Given the description of an element on the screen output the (x, y) to click on. 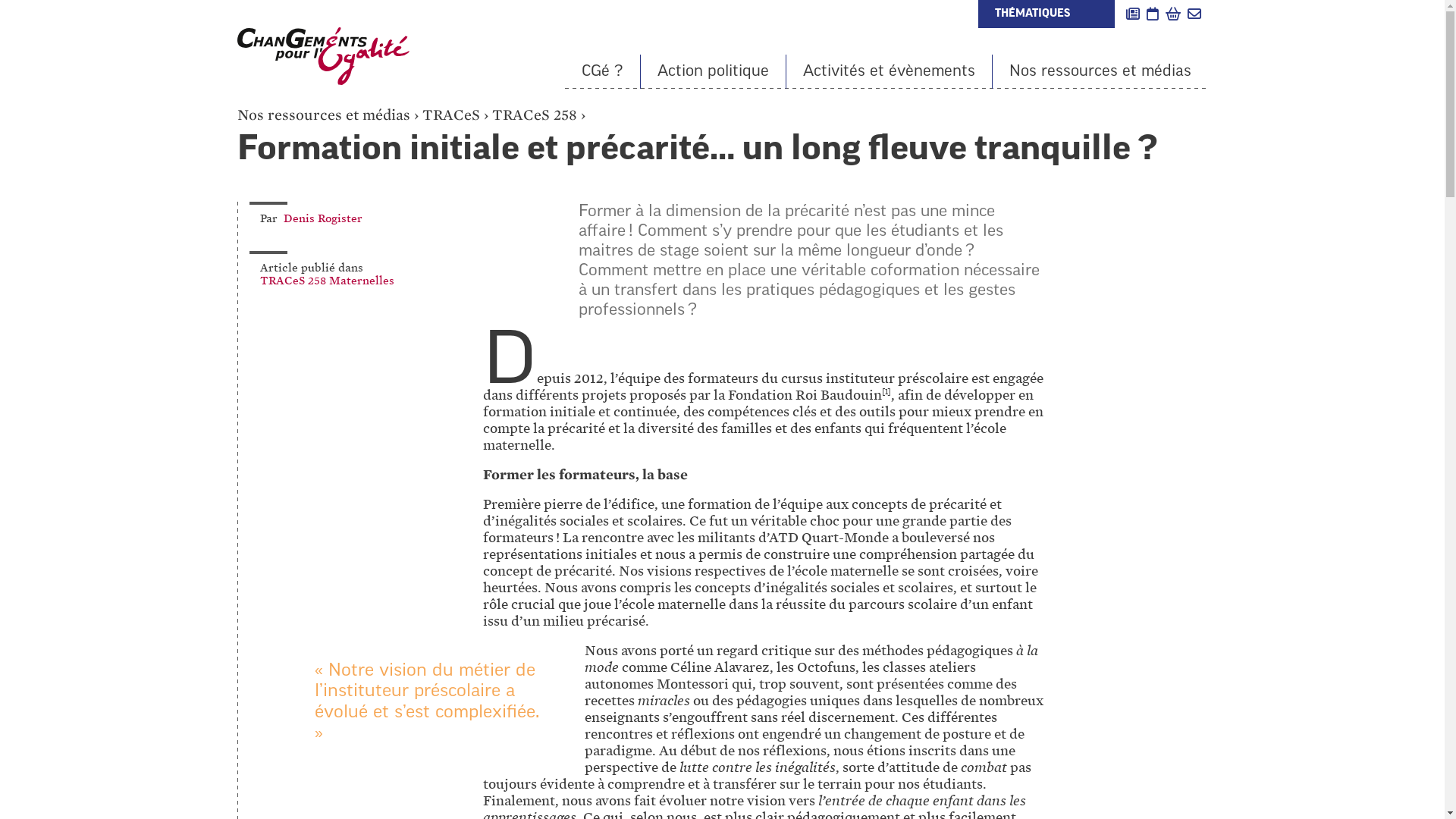
[1] Element type: text (885, 394)
TRACeS 258 Element type: text (533, 114)
Denis Rogister Element type: text (322, 218)
TRACeS 258 Maternelles Element type: text (326, 280)
Action politique Element type: text (712, 71)
TRACeS Element type: text (450, 114)
